Given the description of an element on the screen output the (x, y) to click on. 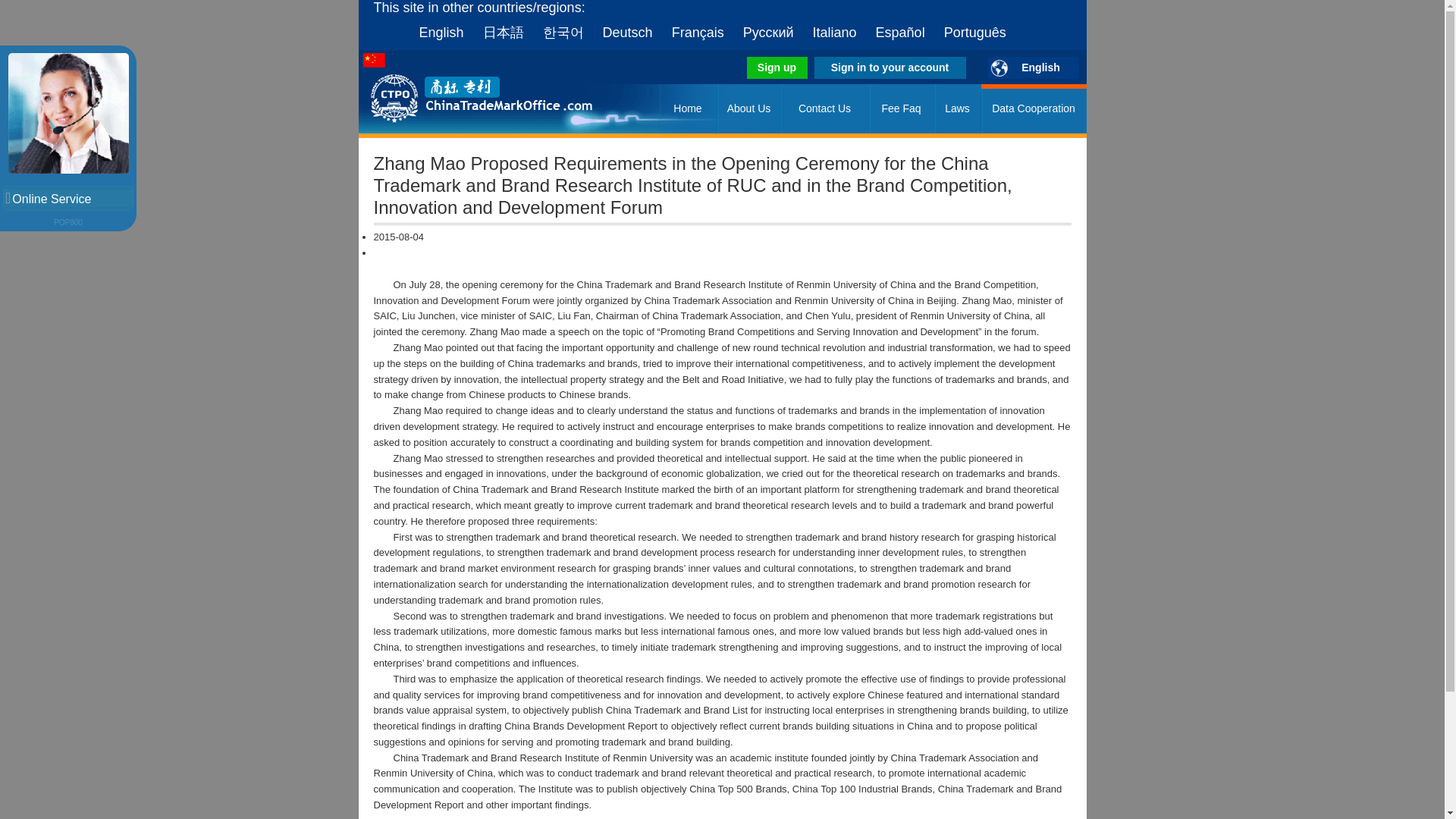
Sign up (775, 67)
English (1032, 67)
chat with Online Service  (68, 198)
Laws (957, 108)
Italiano (827, 32)
Online Customer Service System (67, 222)
Contact Us (824, 108)
Fee Faq (901, 108)
About Us (748, 108)
Home (687, 108)
